Given the description of an element on the screen output the (x, y) to click on. 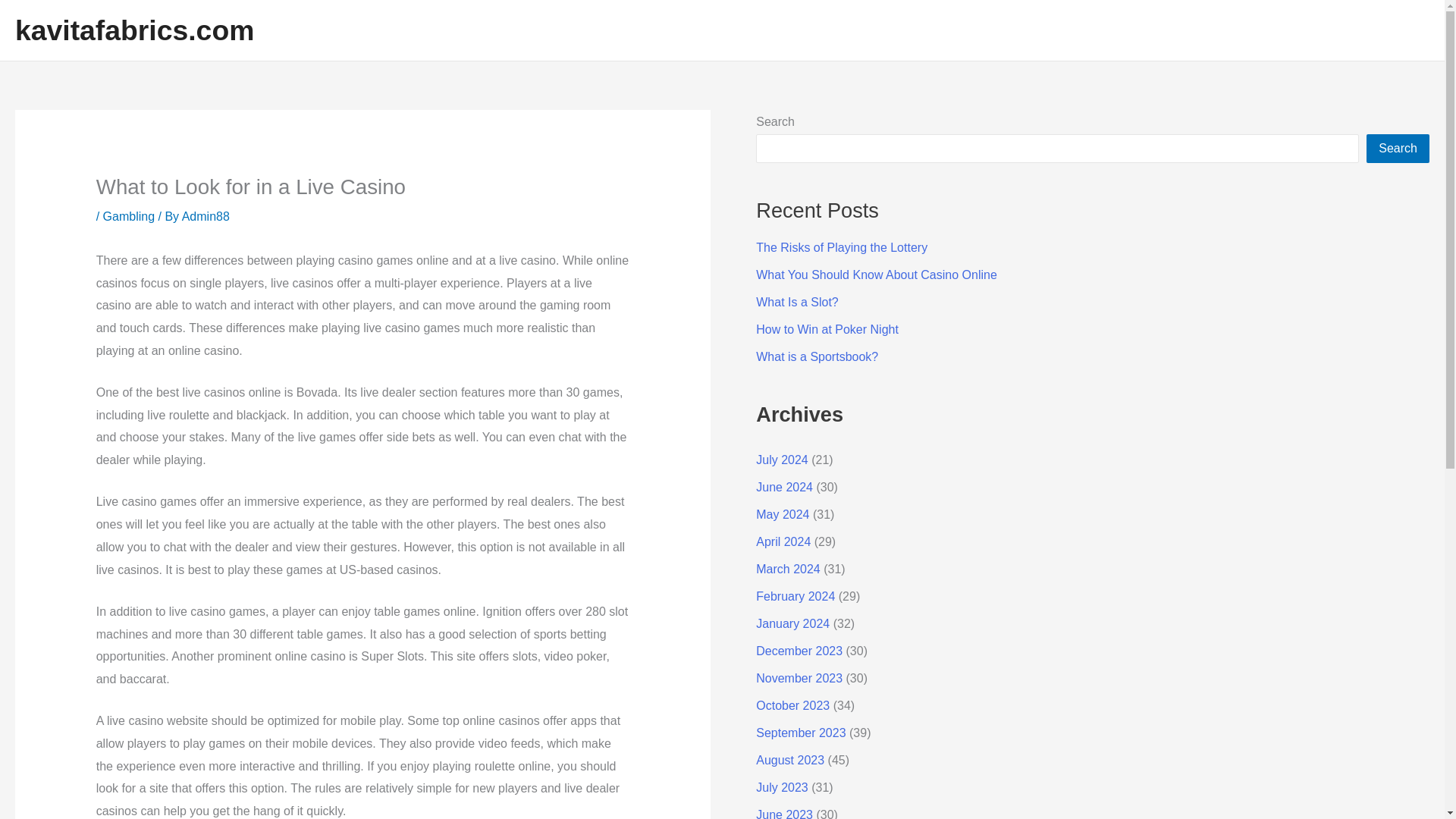
June 2024 (783, 486)
December 2023 (799, 650)
Gambling (128, 215)
May 2024 (782, 513)
July 2023 (781, 787)
August 2023 (789, 759)
What You Should Know About Casino Online (876, 274)
November 2023 (799, 677)
September 2023 (800, 732)
February 2024 (794, 595)
June 2023 (783, 813)
View all posts by Admin88 (206, 215)
Search (1398, 148)
Admin88 (206, 215)
April 2024 (782, 541)
